Given the description of an element on the screen output the (x, y) to click on. 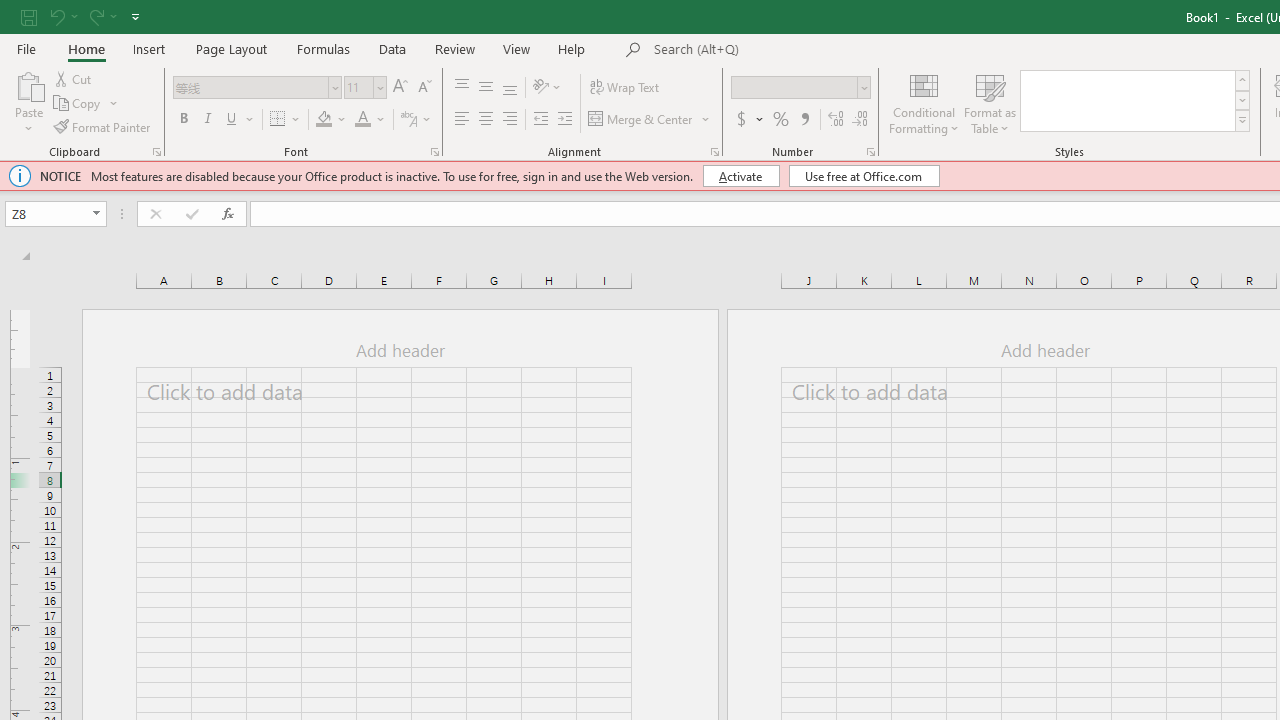
Decrease Indent (540, 119)
Italic (207, 119)
Font Color (370, 119)
Borders (285, 119)
Bottom Align (509, 87)
Font Color (362, 119)
